Given the description of an element on the screen output the (x, y) to click on. 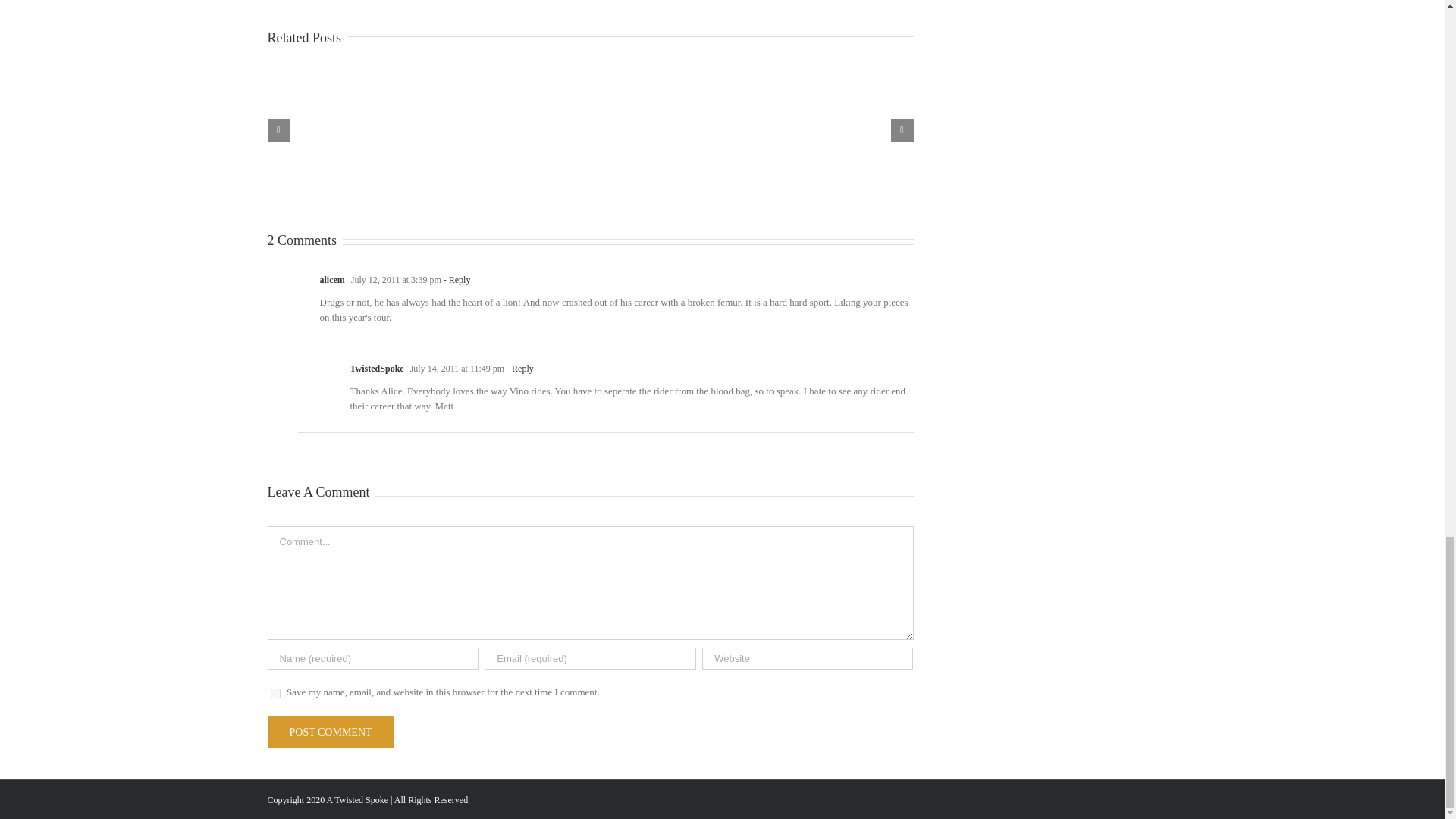
yes (274, 693)
Post Comment (329, 731)
